Given the description of an element on the screen output the (x, y) to click on. 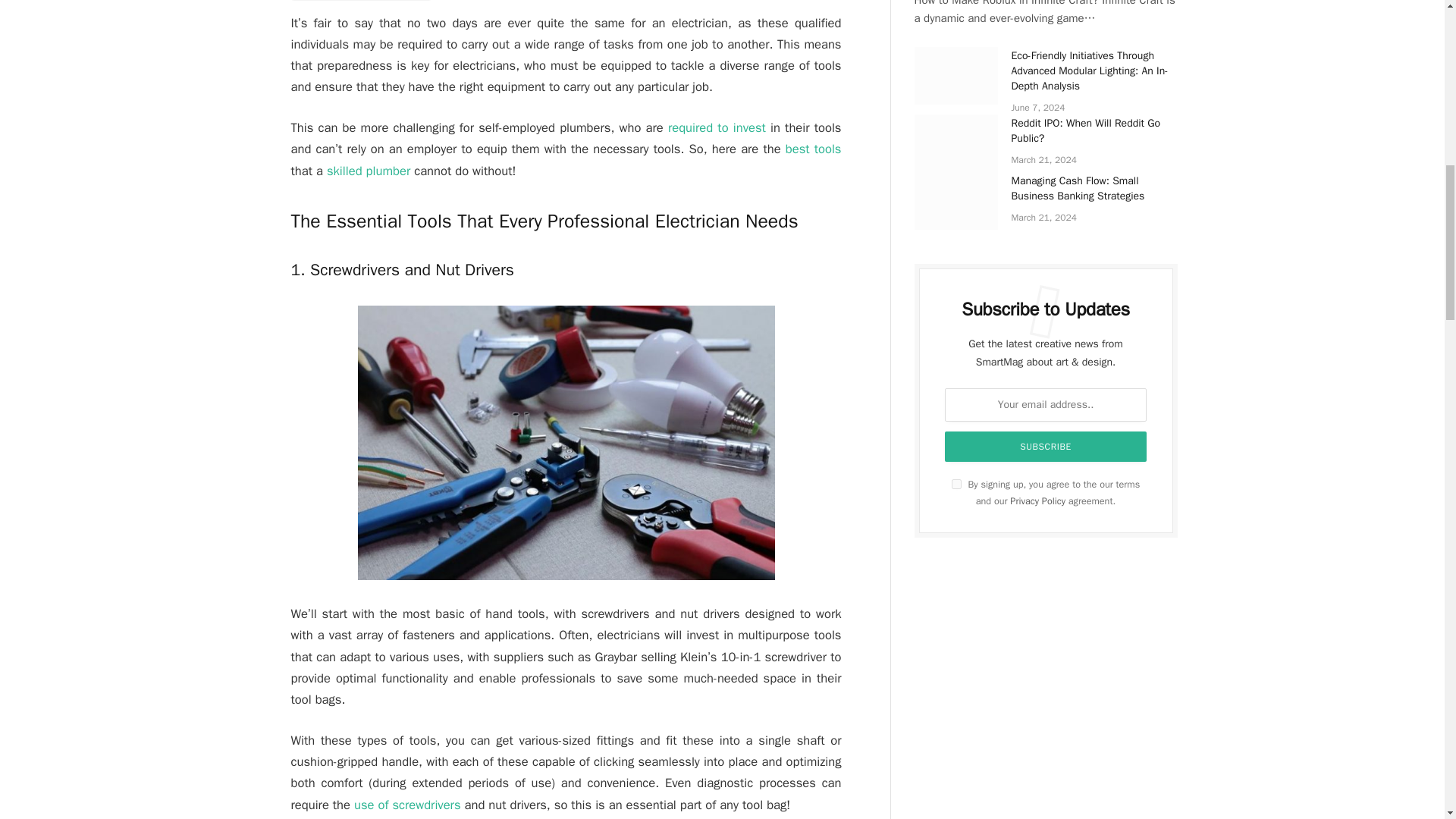
on (956, 483)
Subscribe (1045, 446)
